Given the description of an element on the screen output the (x, y) to click on. 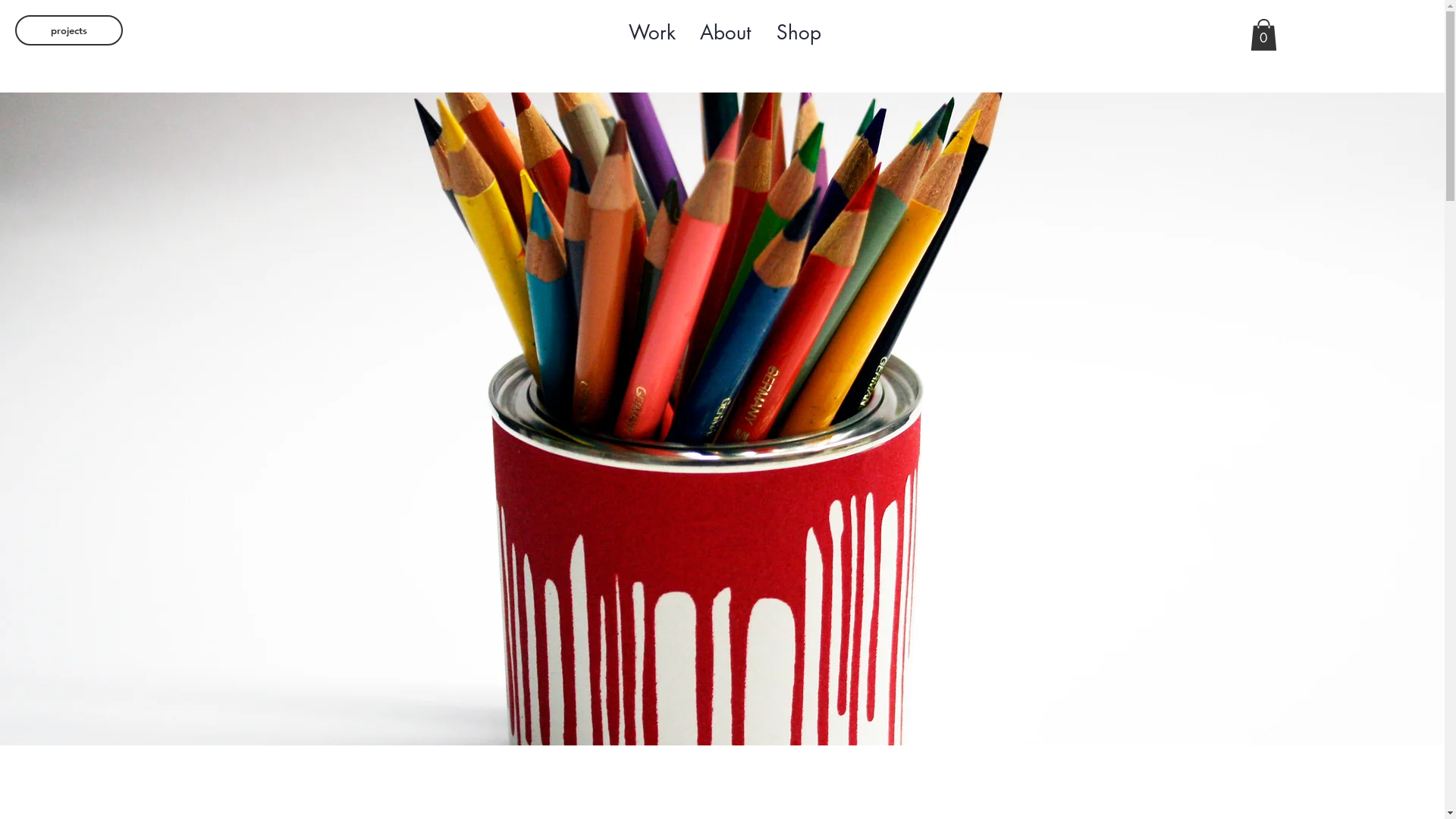
About Element type: text (725, 32)
projects Element type: text (68, 30)
Shop Element type: text (798, 32)
Work Element type: text (651, 32)
0 Element type: text (1262, 34)
